Given the description of an element on the screen output the (x, y) to click on. 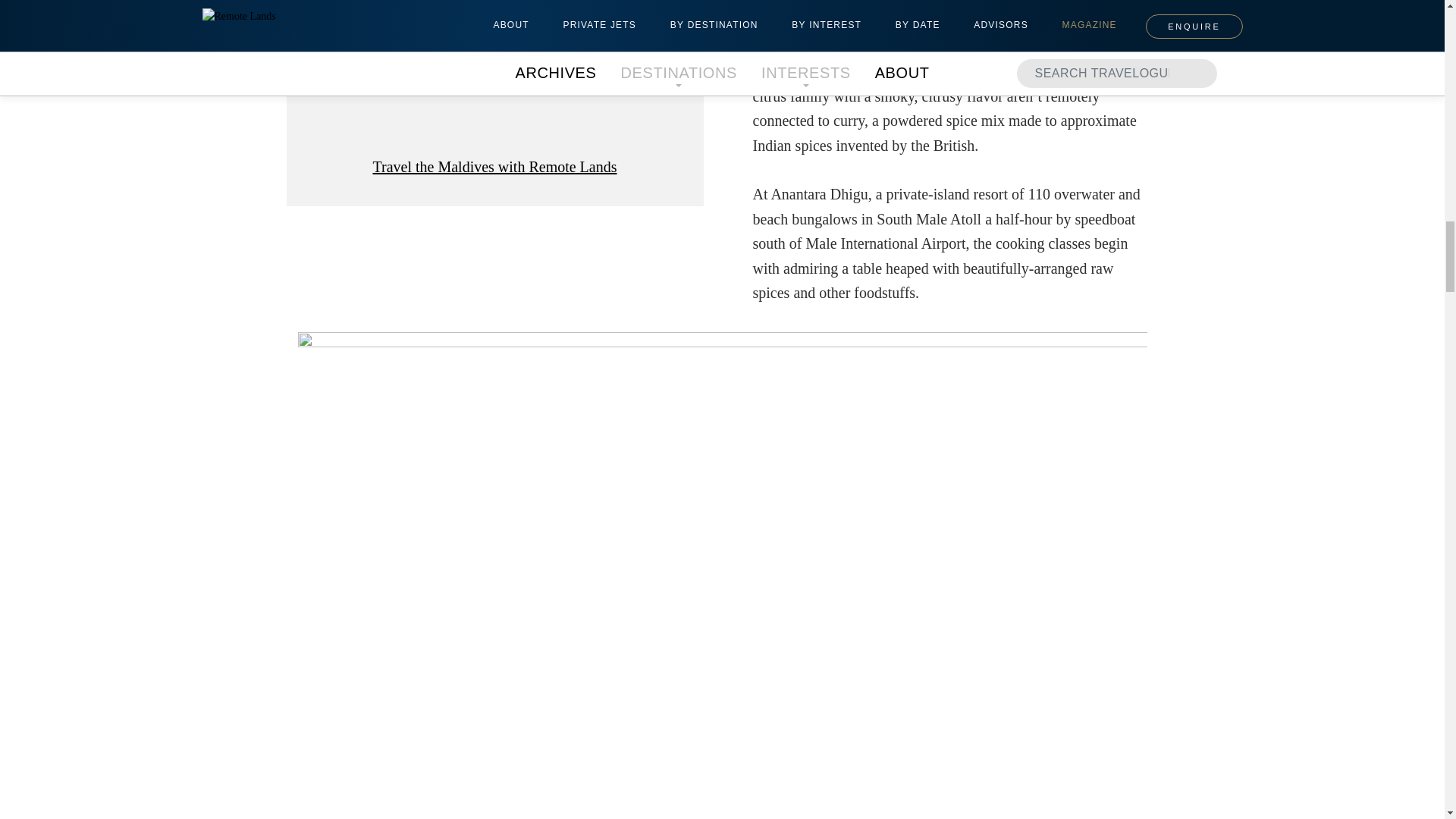
chav1 (495, 72)
